Given the description of an element on the screen output the (x, y) to click on. 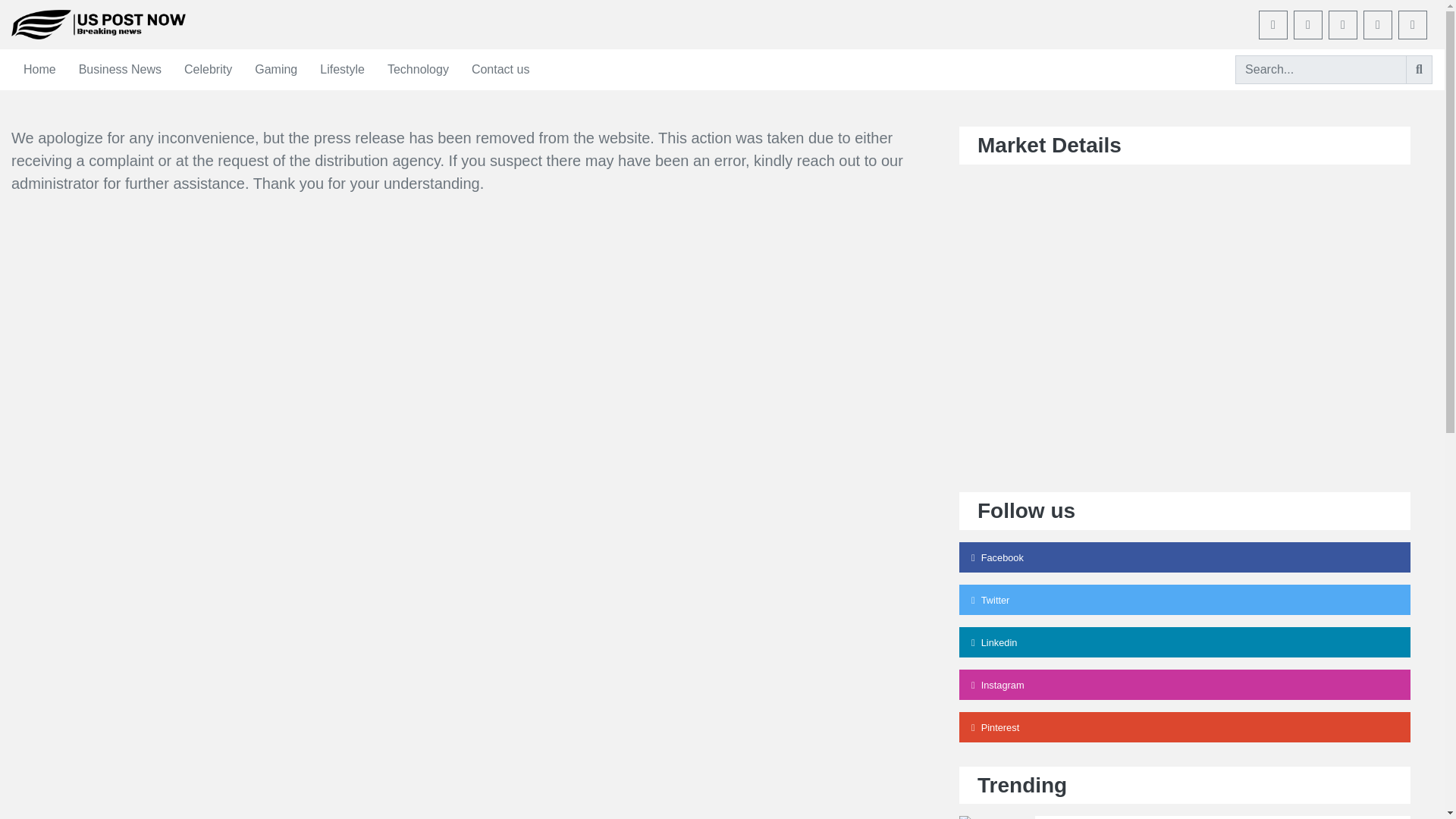
Contact us (500, 69)
Lifestyle (341, 69)
Facebook (1184, 557)
Linkedin (1184, 642)
Twitter (1184, 599)
Business News (119, 69)
Instagram (1184, 684)
Home (38, 69)
Celebrity (208, 69)
